Given the description of an element on the screen output the (x, y) to click on. 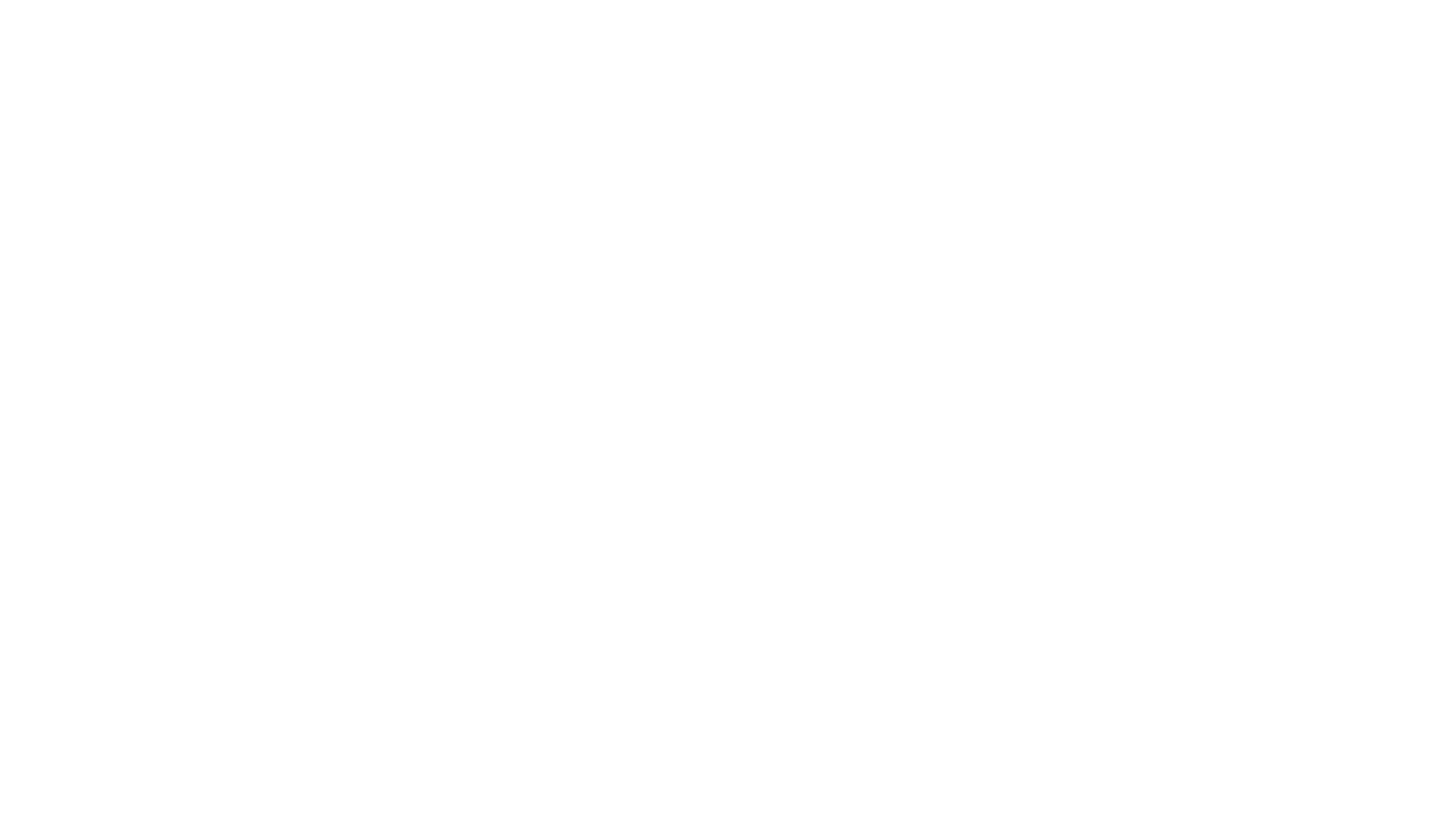
Cloudflare Element type: text (798, 799)
